Given the description of an element on the screen output the (x, y) to click on. 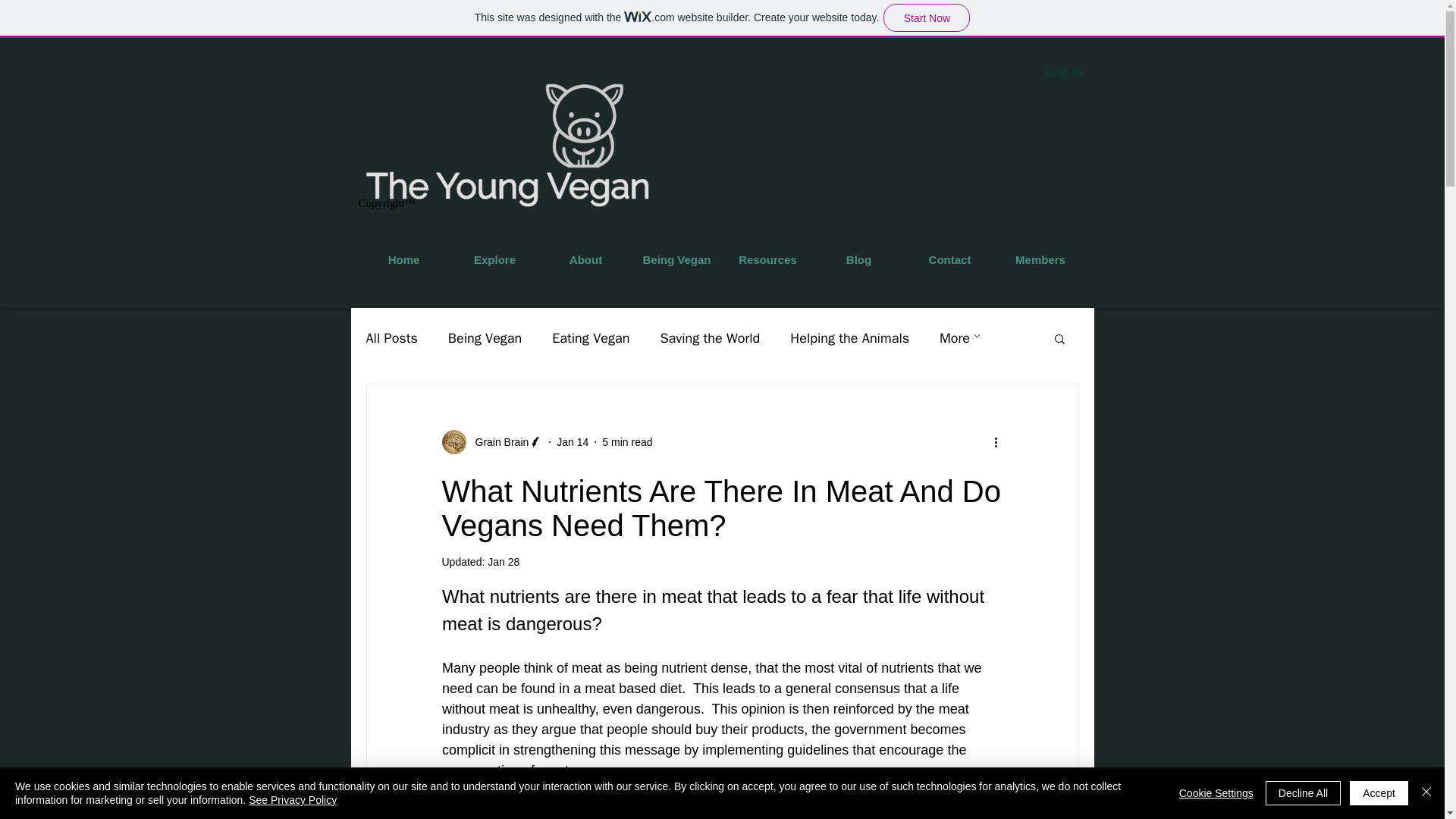
Log In (1063, 72)
Contact (949, 259)
5 min read (627, 440)
Blog (858, 259)
Explore (494, 259)
Grain Brain (492, 441)
Jan 14 (572, 440)
Home (403, 259)
Resources (767, 259)
About (585, 259)
